Given the description of an element on the screen output the (x, y) to click on. 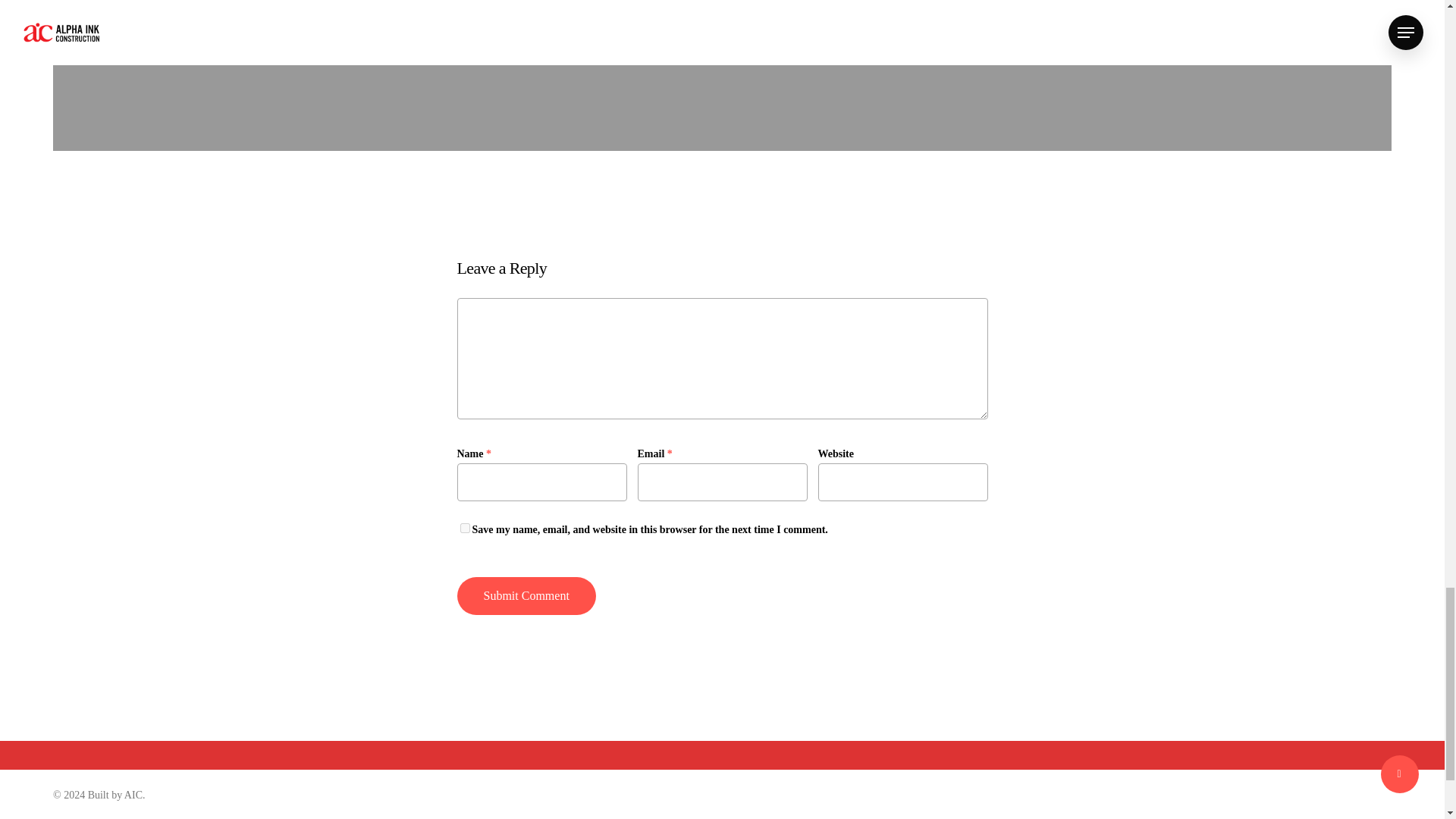
yes (464, 528)
Submit Comment (526, 595)
Submit Comment (526, 595)
